Given the description of an element on the screen output the (x, y) to click on. 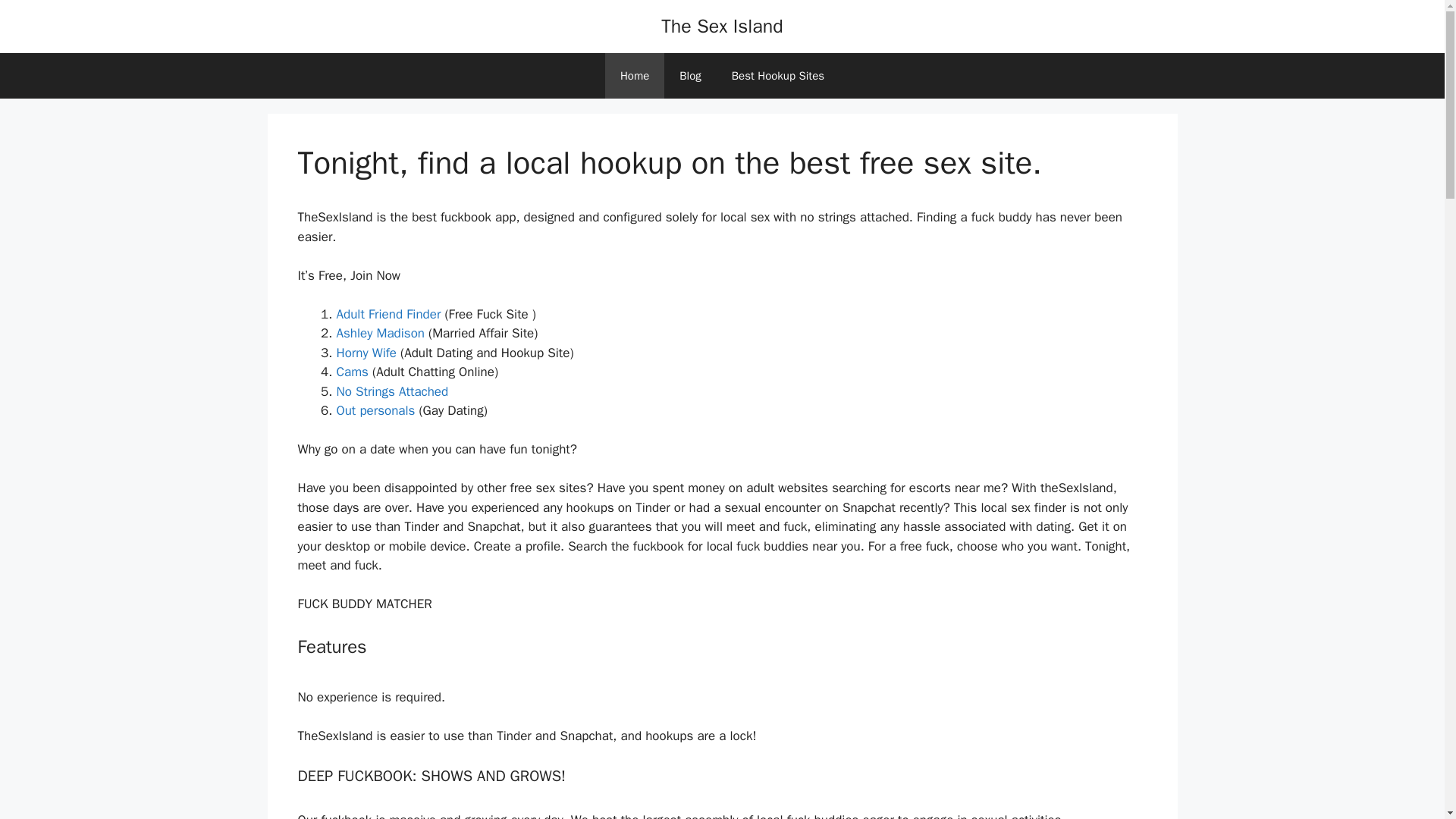
Ashley Madison (380, 333)
No Strings Attached (392, 391)
cams (352, 371)
Blog (689, 75)
Adult Friend Finder (388, 314)
Adult Friend Finder (388, 314)
Horny Wife (366, 352)
Out personals (375, 410)
Ashley Madison (380, 333)
The Sex Island (722, 25)
